Given the description of an element on the screen output the (x, y) to click on. 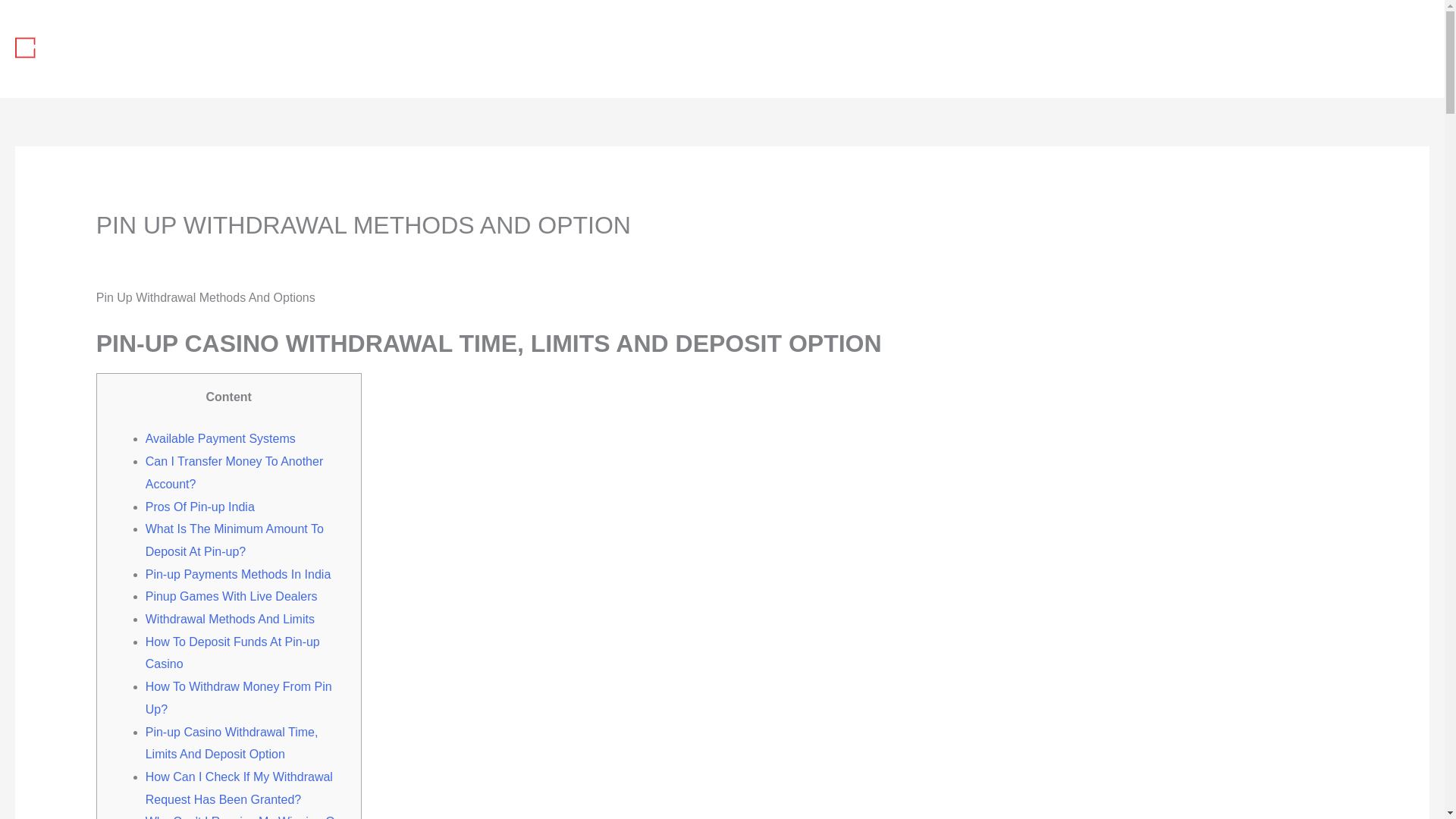
Withdrawal Methods And Limits (229, 618)
Uncategorized (135, 253)
GALLERY (1289, 48)
Barbershop (233, 253)
How To Deposit Funds At Pin-up Casino (232, 652)
Pin-up Casino Withdrawal Time, Limits And Deposit Option (231, 743)
What Is The Minimum Amount To Deposit At Pin-up? (234, 539)
Pinup Games With Live Dealers (231, 595)
How To Withdraw Money From Pin Up? (238, 697)
CONTACT (1382, 48)
How Can I Check If My Withdrawal Request Has Been Granted? (239, 787)
Available Payment Systems (220, 438)
Pin-up Payments Methods In India (238, 574)
BARBERS (1195, 48)
Pros Of Pin-up India (199, 506)
